Given the description of an element on the screen output the (x, y) to click on. 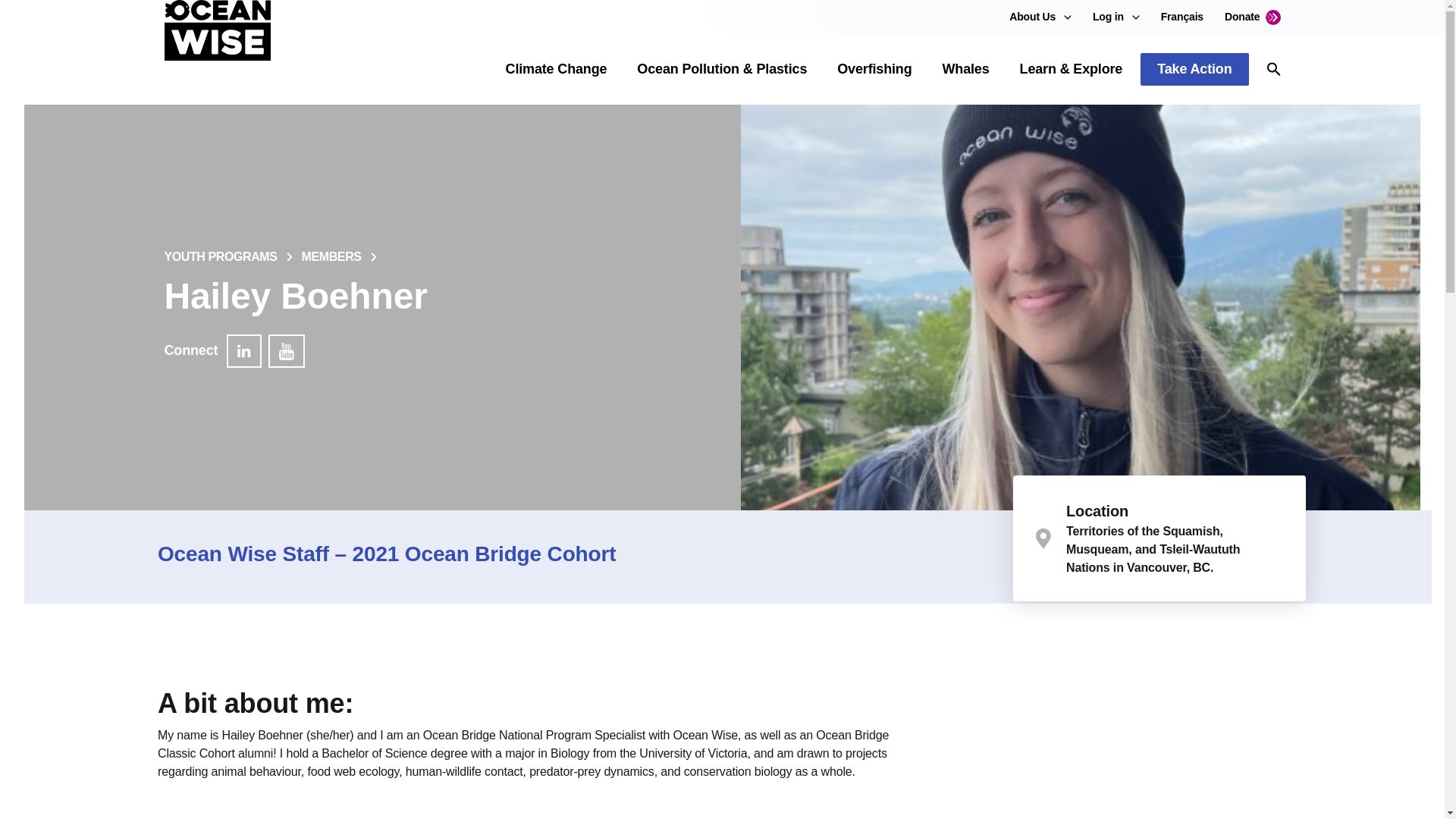
About Us (1032, 17)
Climate Change (556, 68)
About Us (1032, 17)
Log in (1108, 17)
Donate (1252, 17)
Donate (1252, 17)
Whales (966, 68)
Climate Change (556, 68)
Overfishing (874, 68)
Ocean Wise (216, 50)
Log in (1108, 17)
